Given the description of an element on the screen output the (x, y) to click on. 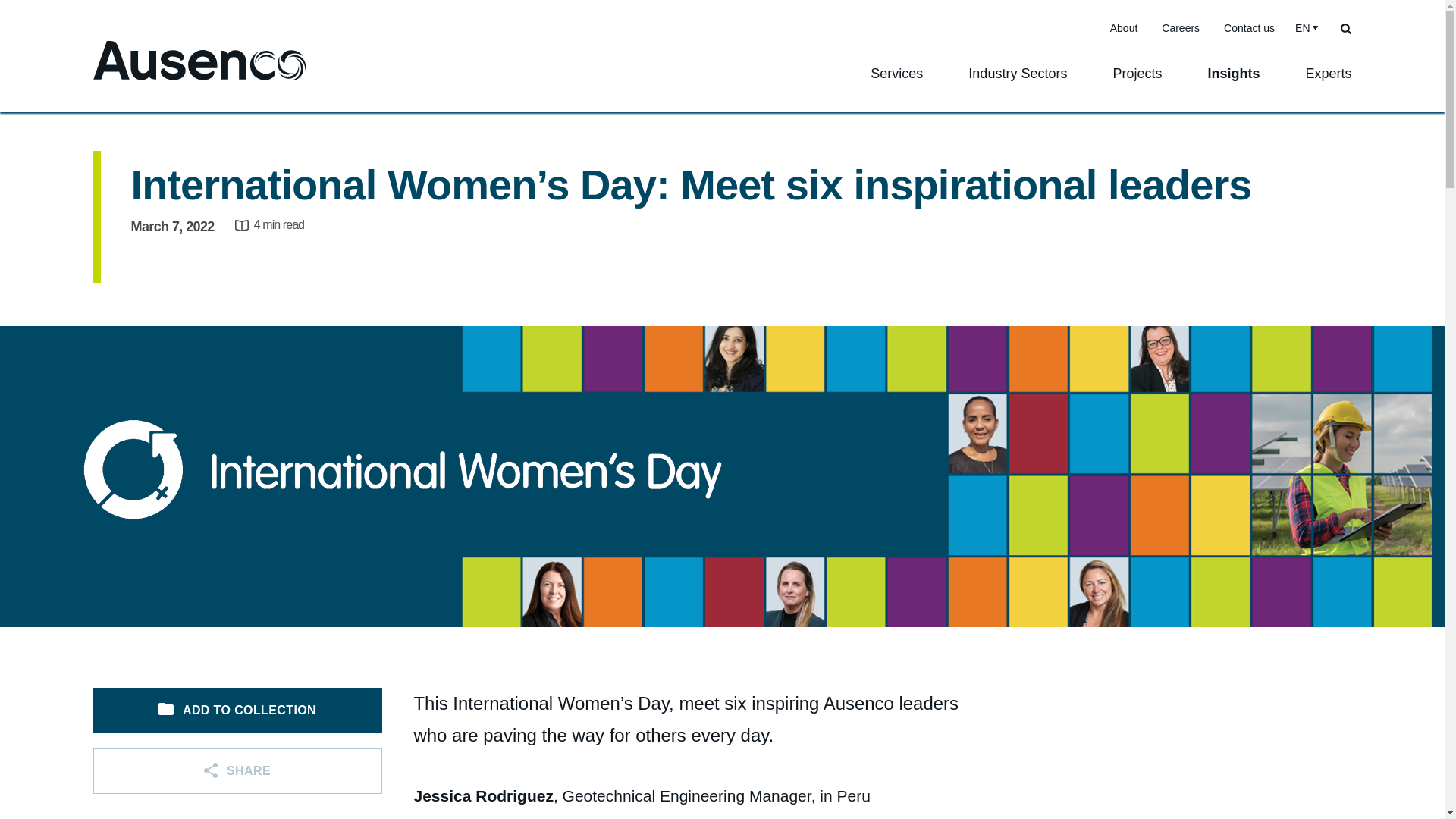
Contact us (1248, 27)
Projects (1137, 84)
EN (1304, 28)
Industry Sectors (1016, 84)
Ausenco English (199, 60)
SHARE (237, 770)
ADD TO COLLECTION (237, 710)
About (1123, 27)
Services (895, 84)
Experts (1328, 84)
Search (1345, 28)
Insights (1233, 84)
Careers (1180, 27)
